Given the description of an element on the screen output the (x, y) to click on. 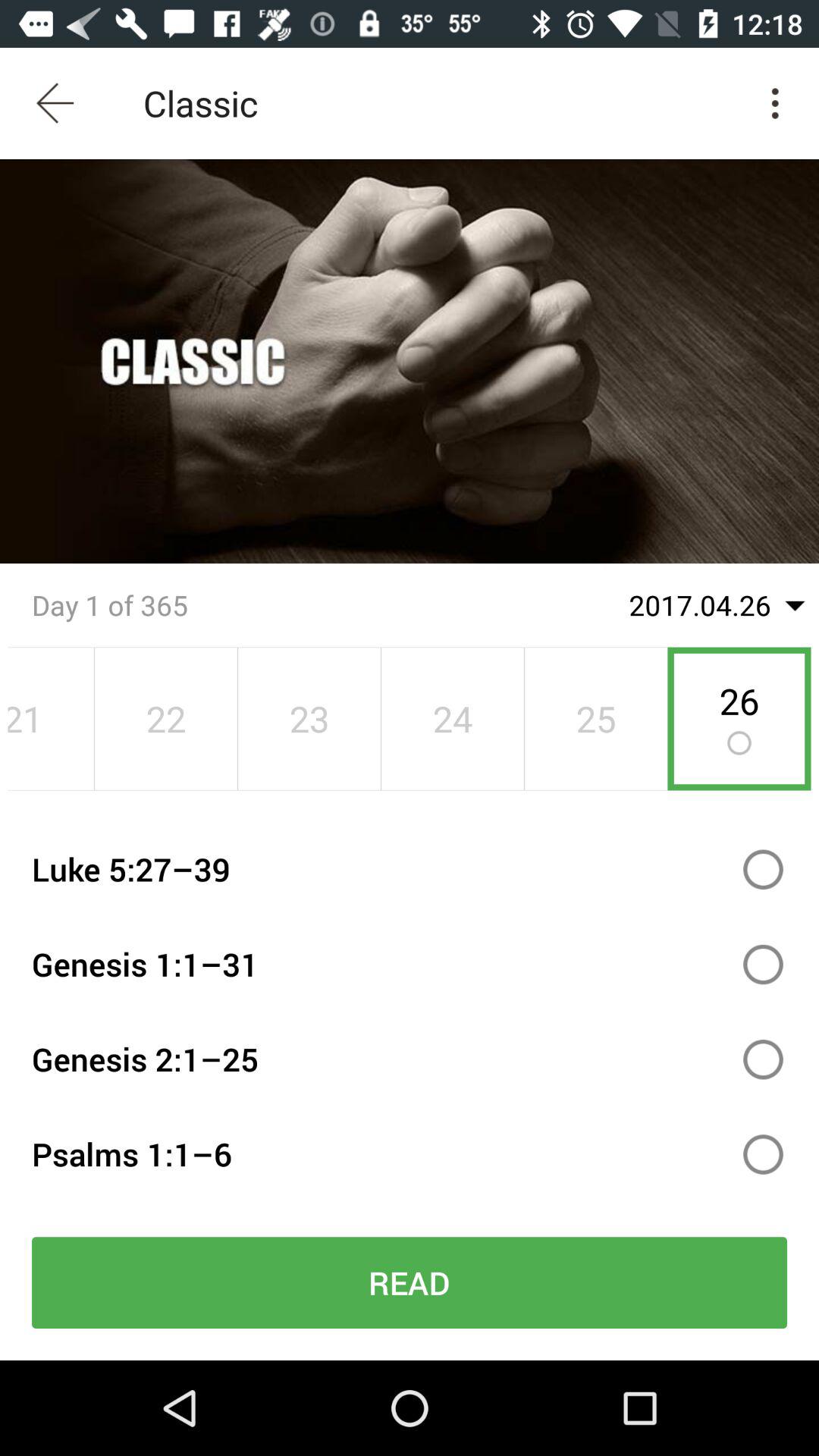
click to select genesis 2:1-25 (763, 1059)
